Given the description of an element on the screen output the (x, y) to click on. 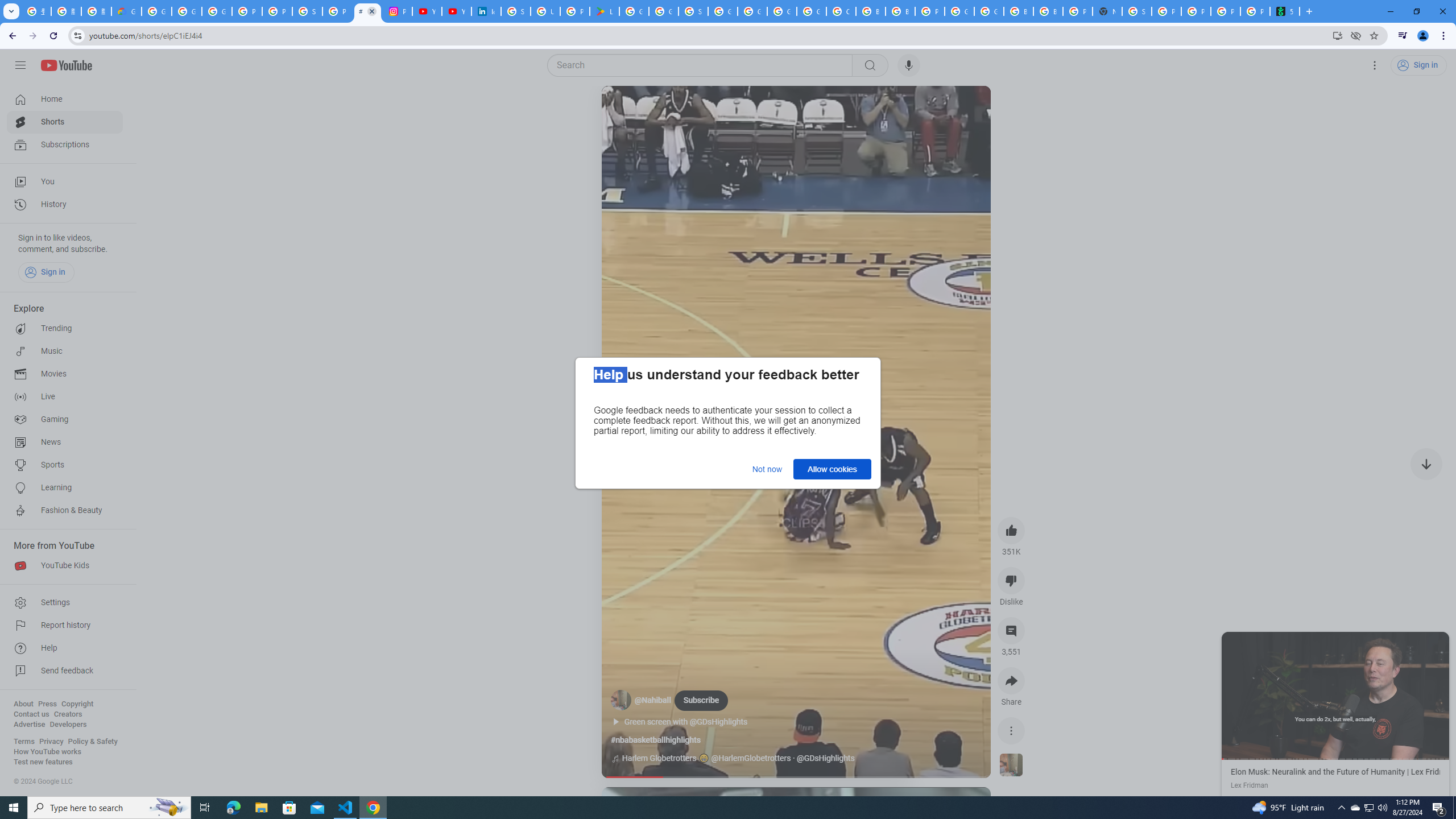
Subscribe (701, 700)
Browse Chrome as a guest - Computer - Google Chrome Help (1018, 11)
Sign in - Google Accounts (306, 11)
Last Shelter: Survival - Apps on Google Play (604, 11)
Test new features (42, 761)
Creators (67, 714)
How YouTube works (47, 751)
Report history (64, 625)
